Given the description of an element on the screen output the (x, y) to click on. 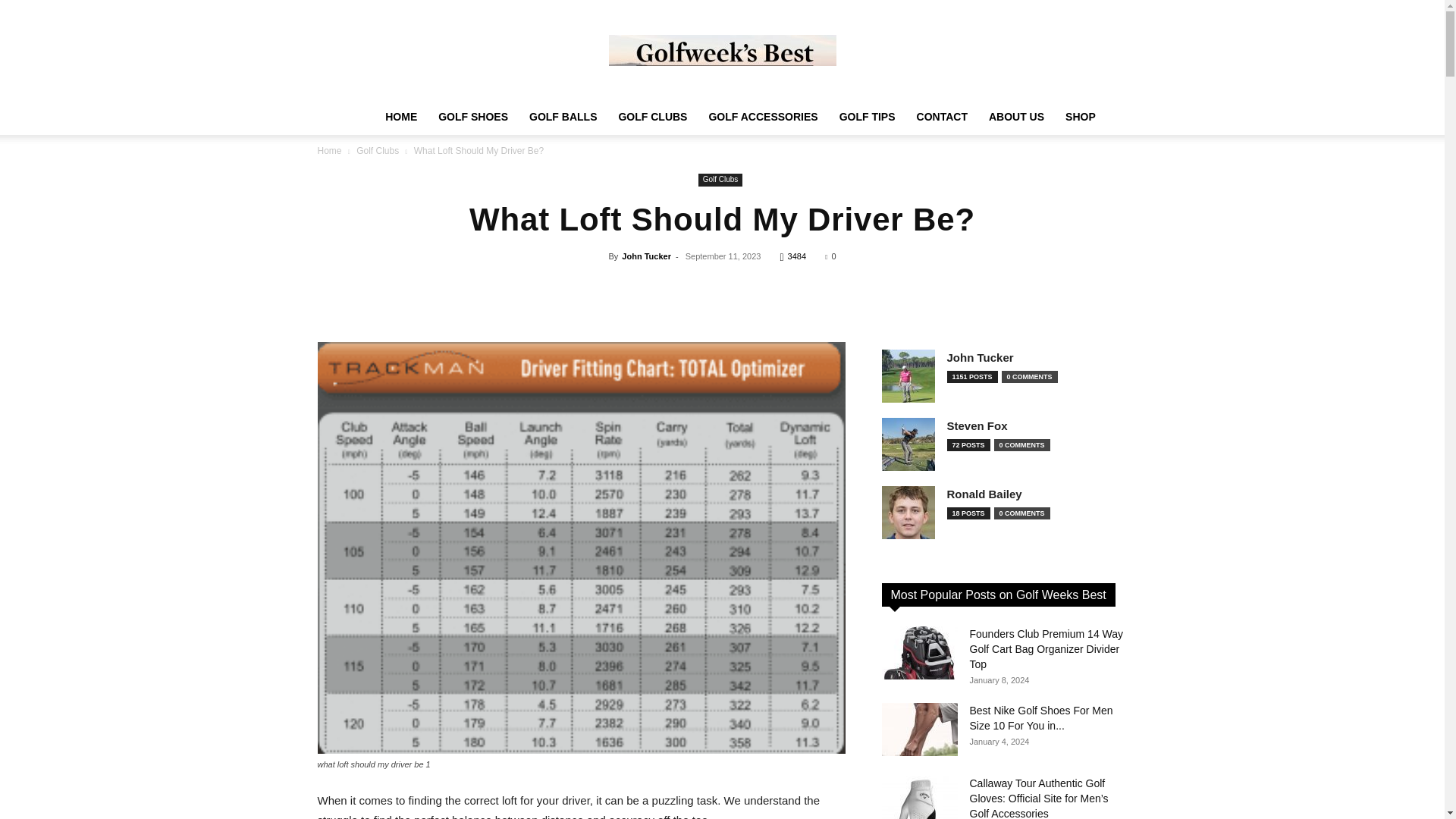
John Tucker (646, 256)
GOLF SHOES (473, 116)
SHOP (1080, 116)
Golf Clubs (377, 150)
0 (830, 256)
GOLF Equipment: Gear, Golf Shoes and Golf Clubs (721, 50)
HOME (401, 116)
ABOUT US (1016, 116)
Home (328, 150)
GOLF BALLS (562, 116)
GOLF TIPS (866, 116)
Golf Clubs (720, 179)
CONTACT (941, 116)
View all posts in Golf Clubs (377, 150)
GOLF CLUBS (652, 116)
